Given the description of an element on the screen output the (x, y) to click on. 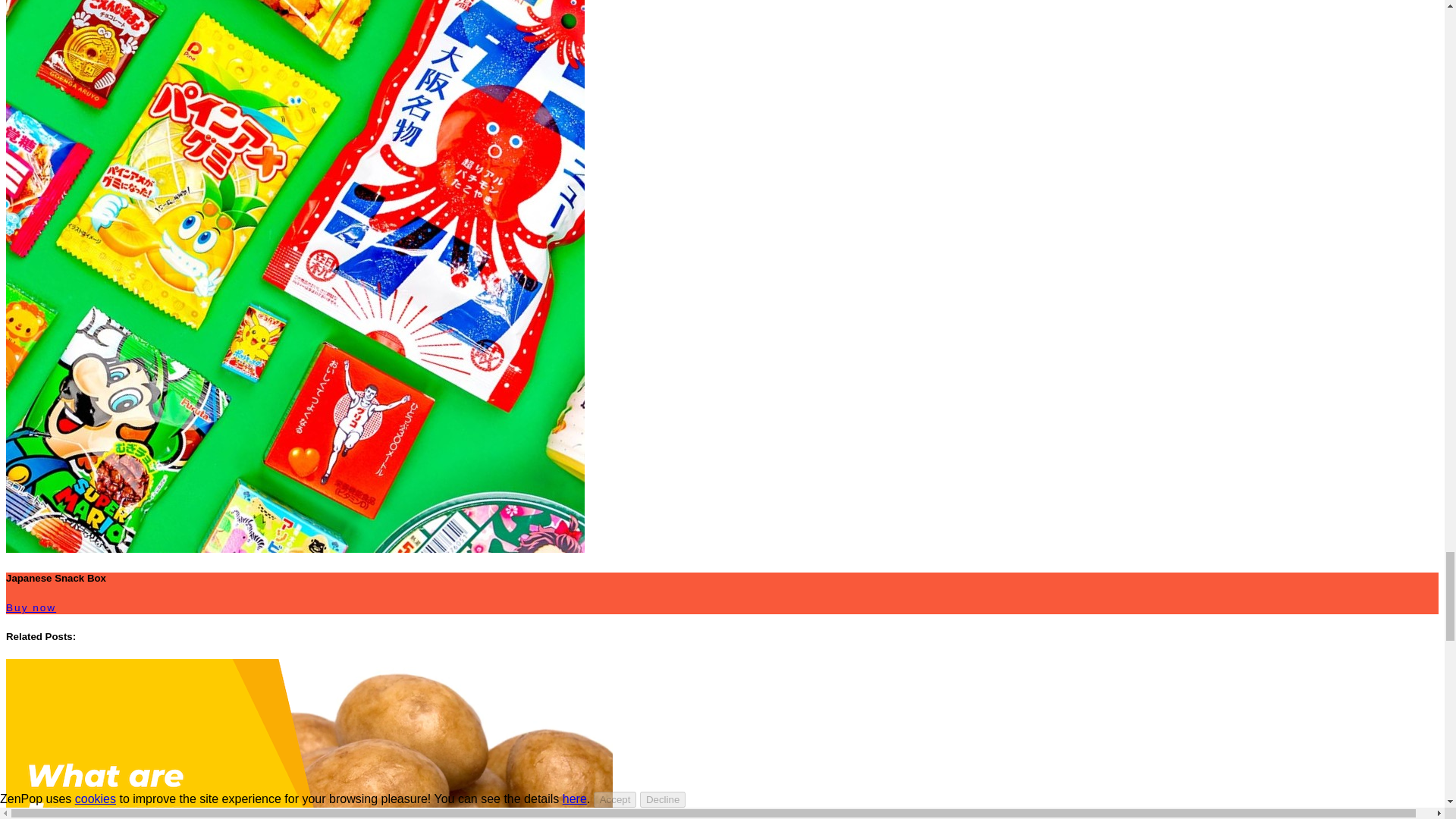
Buy now (30, 607)
